Given the description of an element on the screen output the (x, y) to click on. 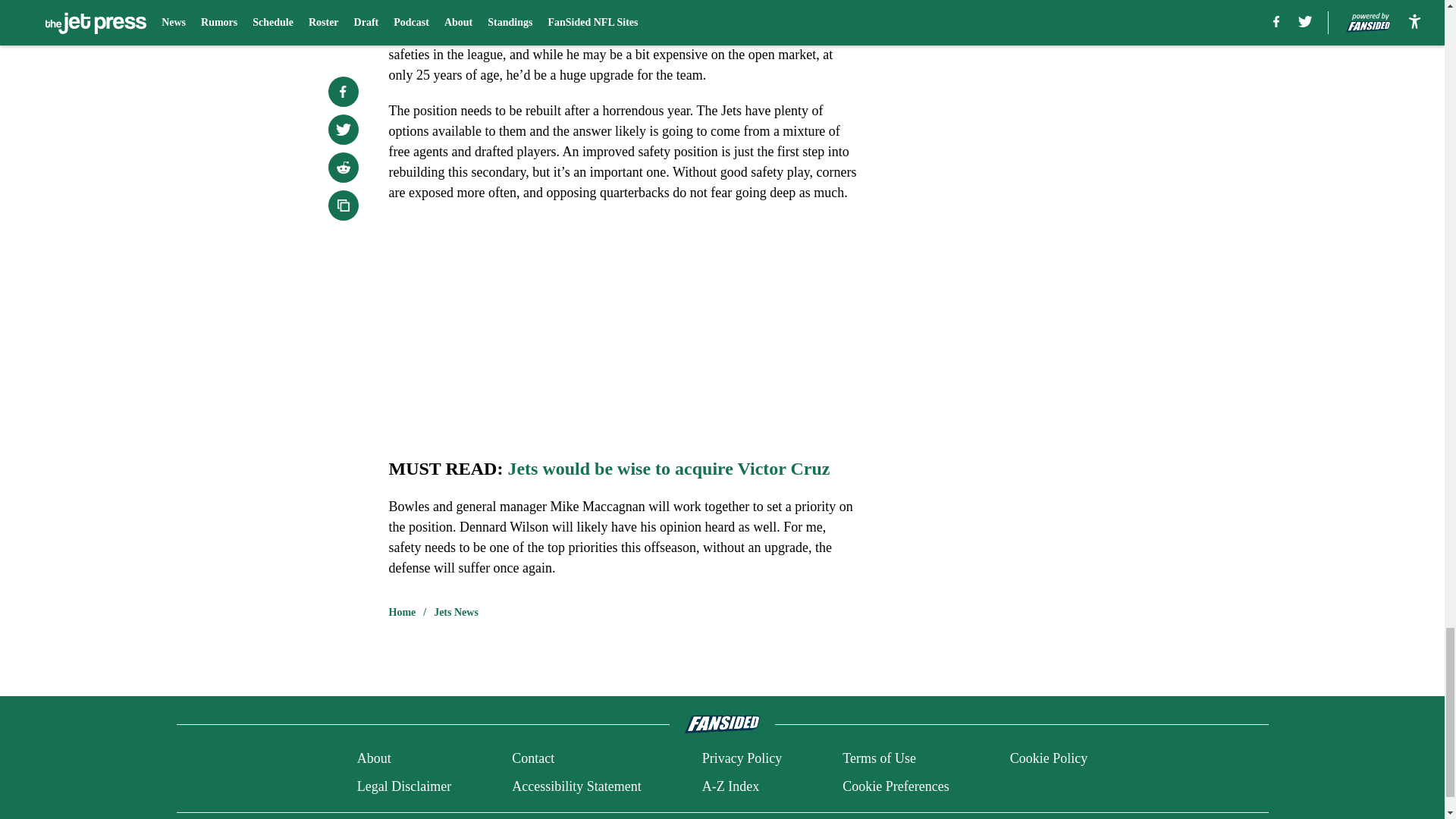
Tony Jefferson (596, 33)
Contact (533, 758)
Home (401, 612)
Jets News (456, 612)
Terms of Use (879, 758)
About (373, 758)
Jets would be wise to acquire Victor Cruz (667, 468)
Privacy Policy (742, 758)
